Given the description of an element on the screen output the (x, y) to click on. 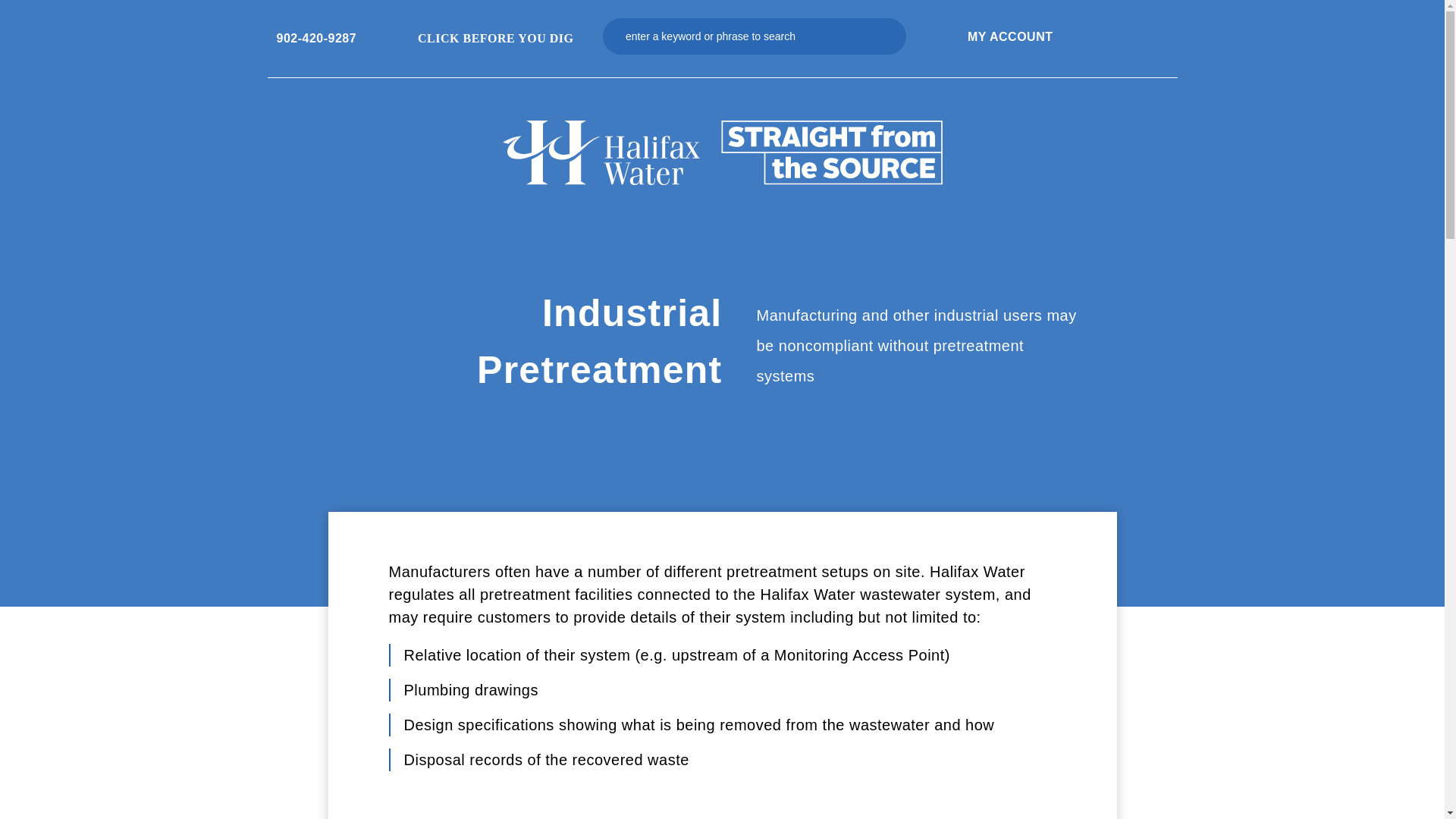
CLICK BEFORE YOU DIG (486, 38)
Skip to main content (624, 4)
Search (885, 36)
Search (885, 36)
MY ACCOUNT (1010, 36)
902-420-9287 (316, 38)
